Given the description of an element on the screen output the (x, y) to click on. 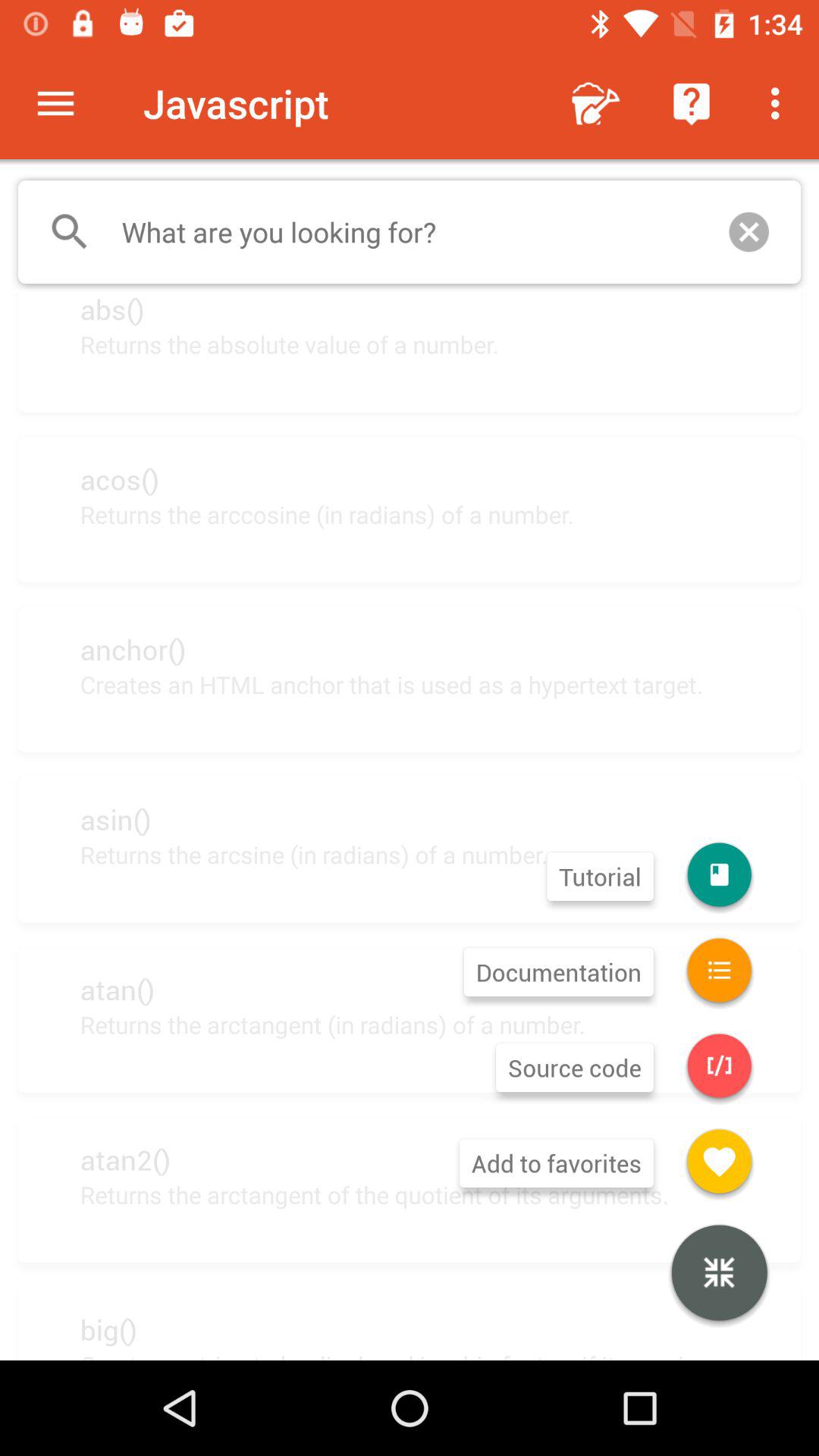
open item next to the javascript (55, 103)
